Given the description of an element on the screen output the (x, y) to click on. 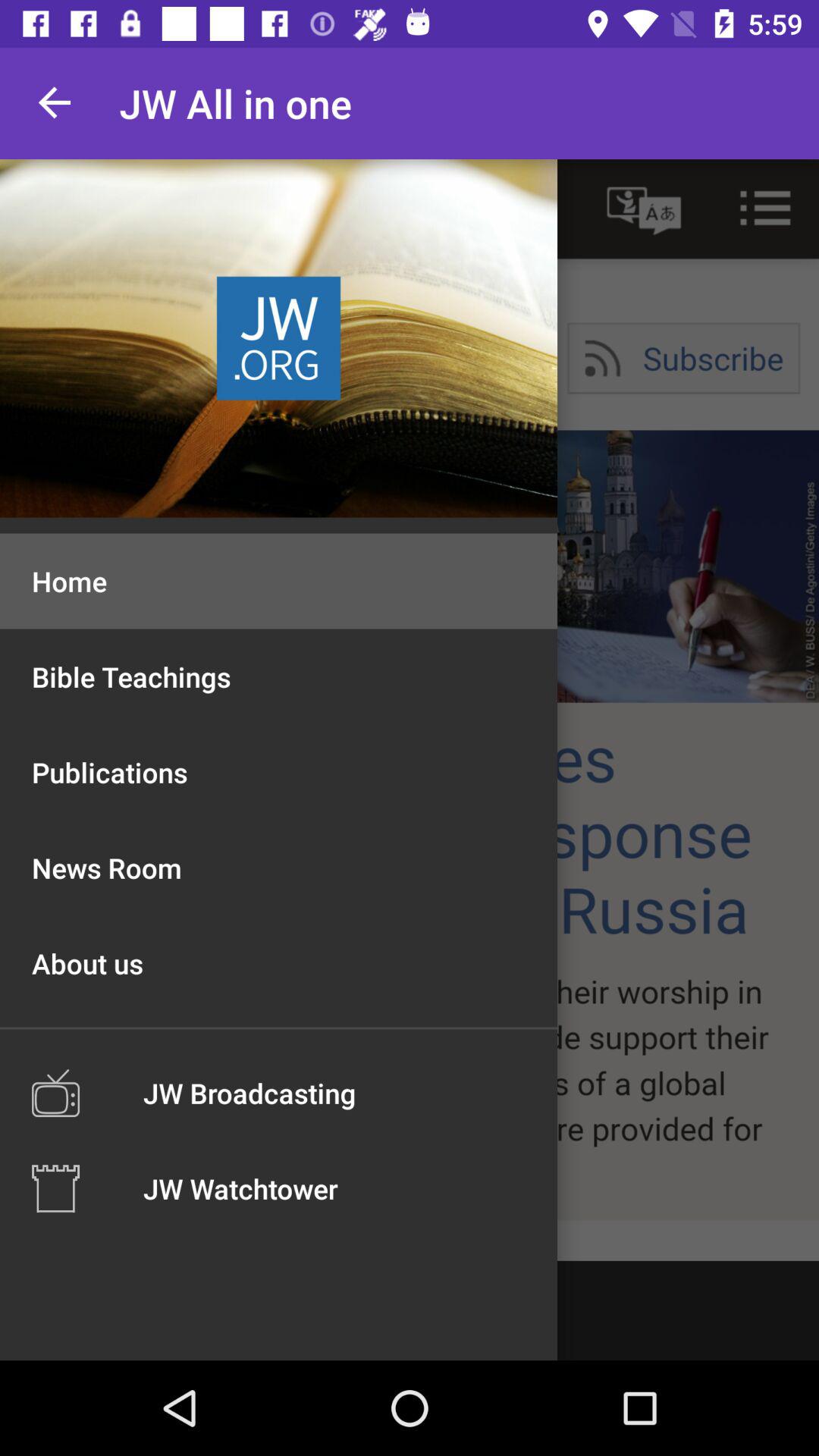
browse site (409, 709)
